Given the description of an element on the screen output the (x, y) to click on. 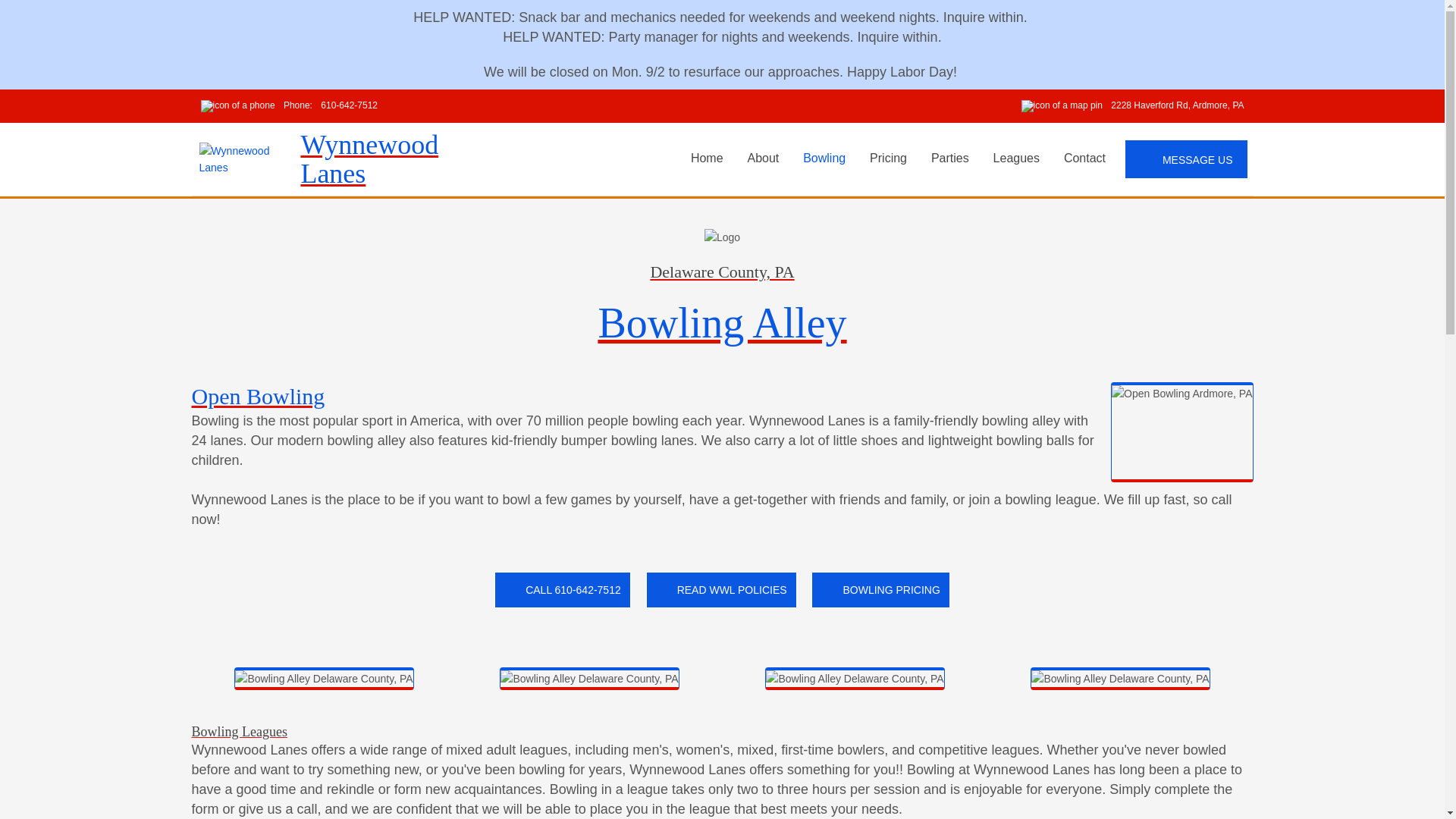
Pricing (887, 158)
link to home page (706, 158)
link to home page (380, 159)
link to Bowling page (823, 158)
2228 Haverford Rd, Ardmore, PA (1132, 105)
Contact (1085, 158)
link to about page (762, 158)
About (762, 158)
Parties (949, 158)
READ WWL POLICIES (721, 589)
